Given the description of an element on the screen output the (x, y) to click on. 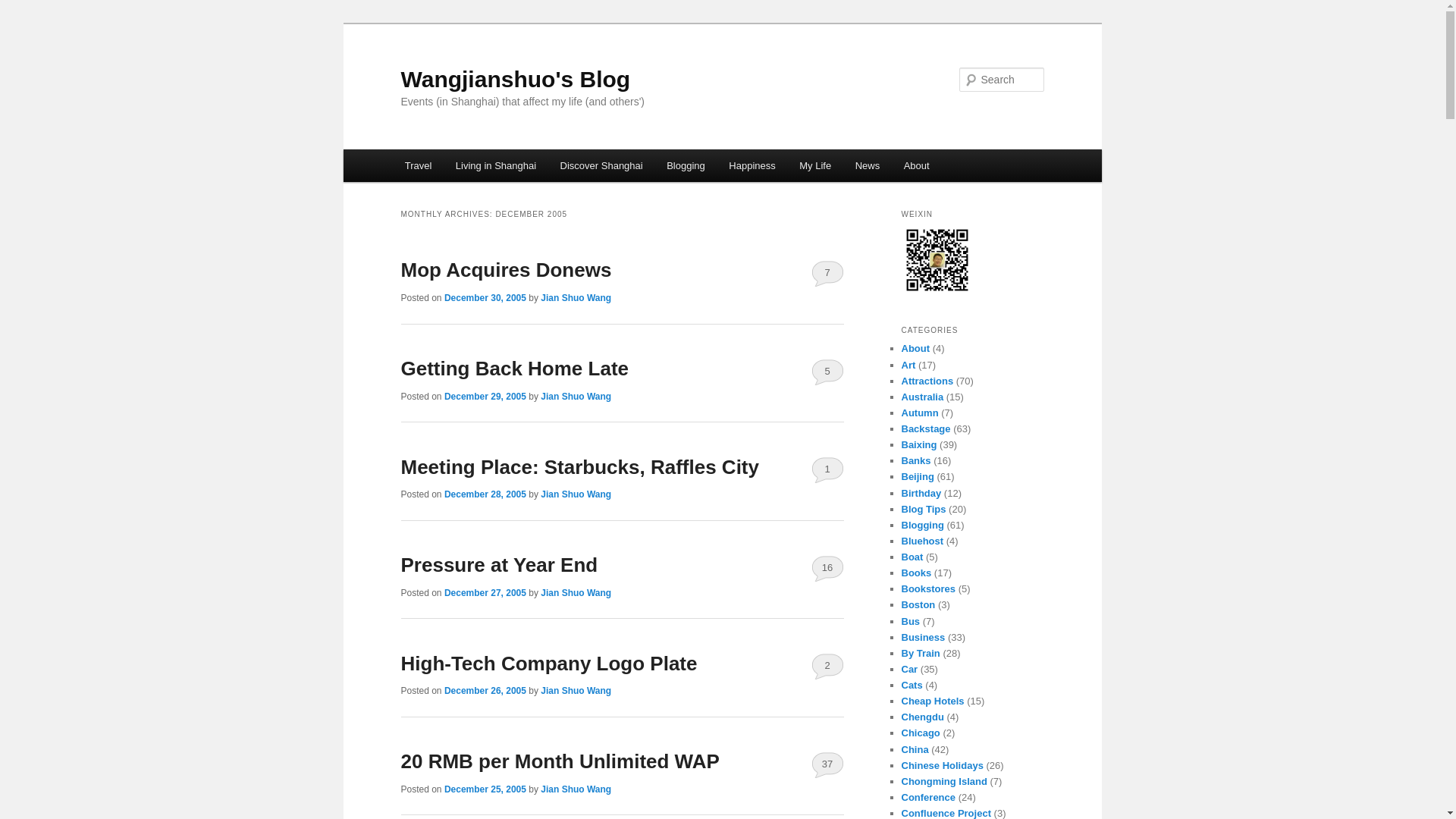
Search (24, 8)
View all posts by Jian Shuo Wang (575, 593)
11:47 pm (484, 493)
8:56 pm (484, 297)
Living in Shanghai (496, 165)
View all posts by Jian Shuo Wang (575, 690)
10:58 pm (484, 788)
11:07 pm (484, 690)
View all posts by Jian Shuo Wang (575, 788)
View all posts by Jian Shuo Wang (575, 297)
Wangjianshuo's Blog (515, 78)
11:12 pm (484, 593)
Travel (418, 165)
View all posts by Jian Shuo Wang (575, 396)
11:10 pm (484, 396)
